Given the description of an element on the screen output the (x, y) to click on. 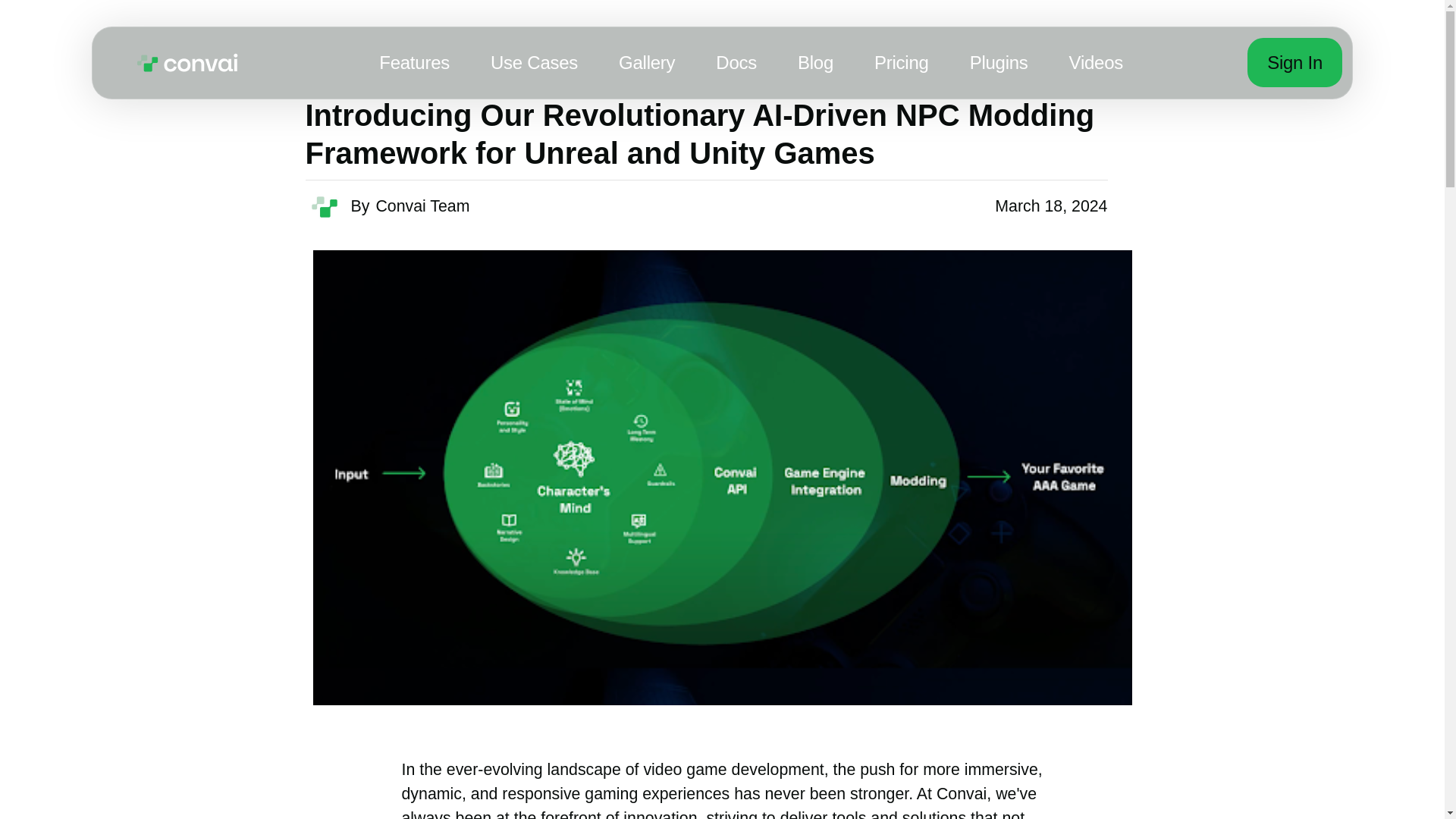
Videos (1095, 61)
Pricing (901, 61)
Docs (736, 61)
Features (414, 61)
Sign In (1294, 61)
Plugins (998, 61)
Gallery (646, 61)
Use Cases (534, 61)
Blog (815, 61)
